Given the description of an element on the screen output the (x, y) to click on. 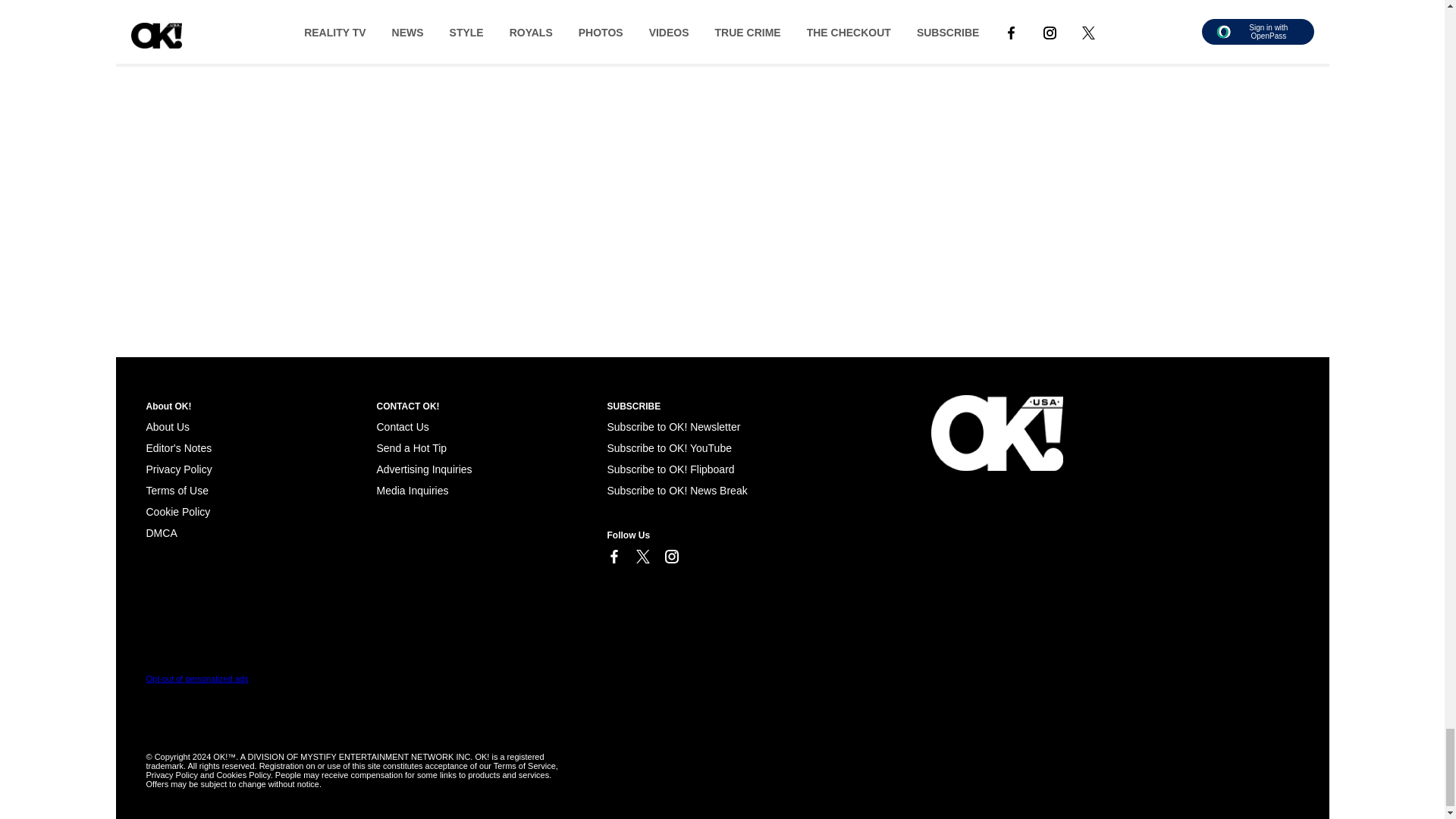
Link to X (641, 559)
Cookie Policy (177, 511)
Privacy Policy (178, 469)
DMCA (160, 532)
Link to Instagram (670, 559)
Subscribe to OK! Flipboard (670, 469)
Link to X (641, 556)
Subscribe to OK! YouTube (668, 448)
Link to Instagram (670, 556)
Advertising Inquiries (423, 469)
Terms of Use (176, 490)
Link to Facebook (613, 559)
Subscribne to OK! News Break (676, 490)
Send a Hot Tip (410, 448)
Link to Facebook (613, 559)
